Given the description of an element on the screen output the (x, y) to click on. 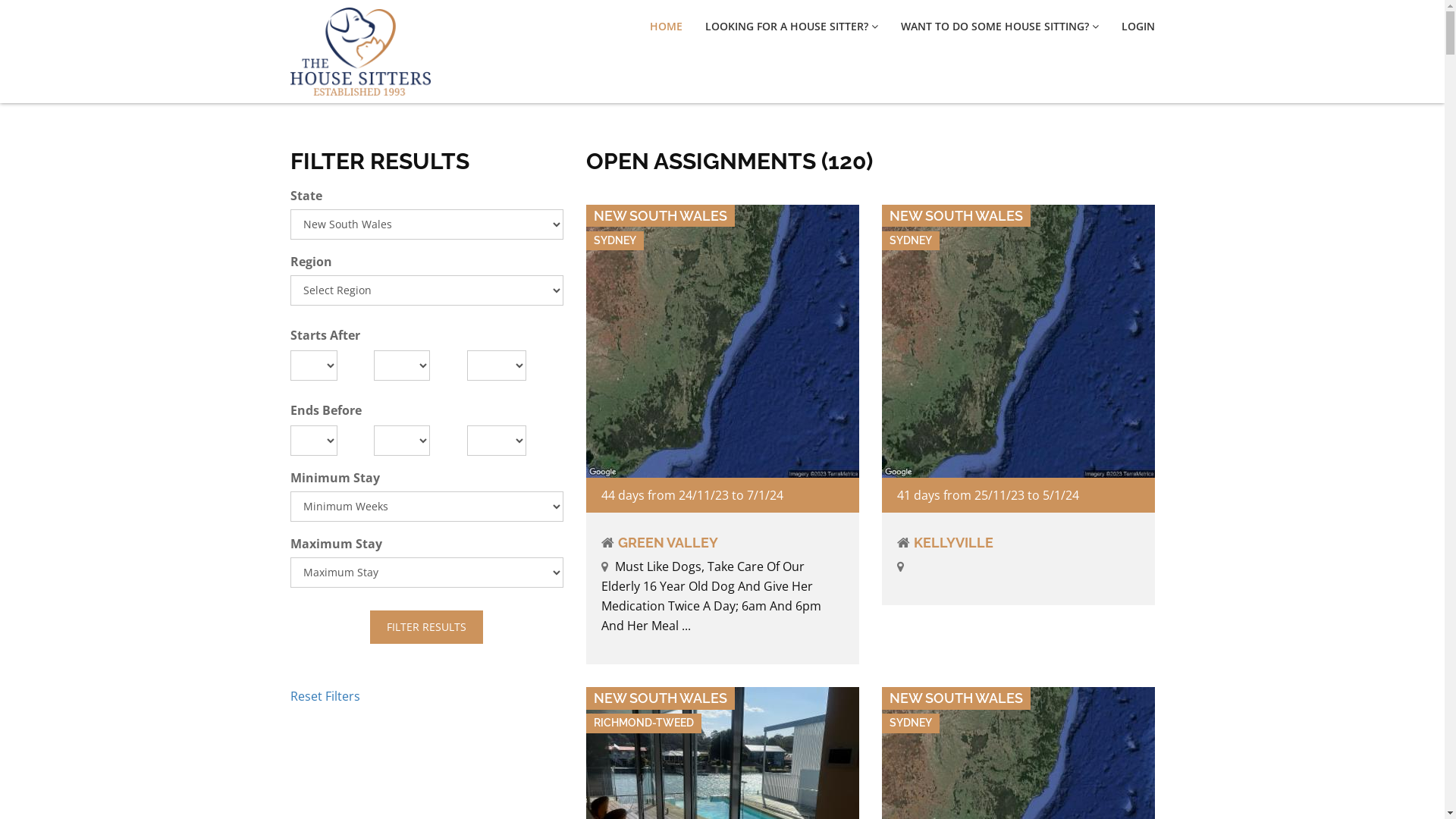
WANT TO DO SOME HOUSE SITTING? Element type: text (999, 26)
LOOKING FOR A HOUSE SITTER? Element type: text (791, 26)
FILTER RESULTS Element type: text (426, 626)
LOGIN Element type: text (1137, 26)
KELLYVILLE Element type: text (952, 542)
Reset Filters Element type: text (324, 695)
GREEN VALLEY Element type: text (667, 542)
HOME Element type: text (665, 26)
